Given the description of an element on the screen output the (x, y) to click on. 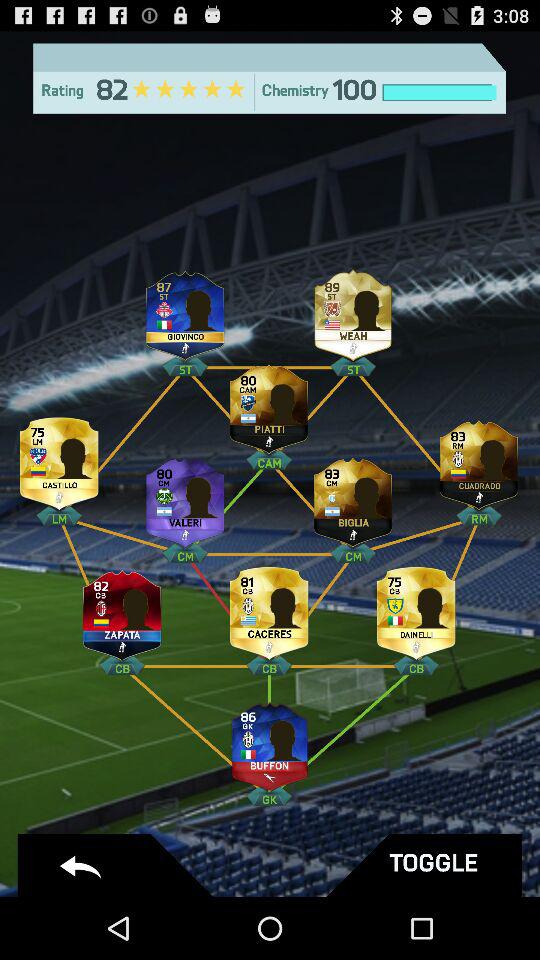
view profile (479, 460)
